Given the description of an element on the screen output the (x, y) to click on. 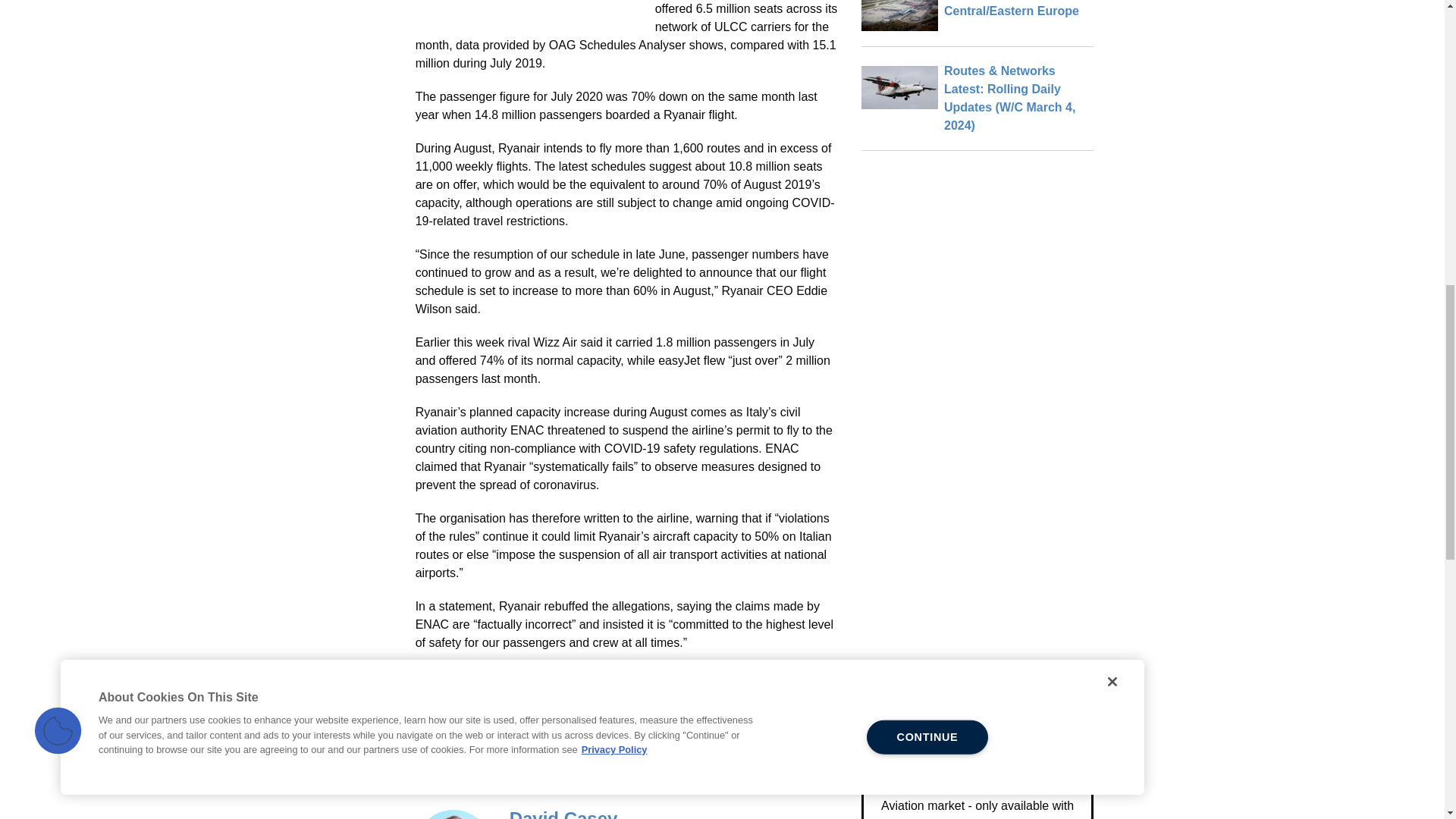
3rd party ad content (528, 11)
